Given the description of an element on the screen output the (x, y) to click on. 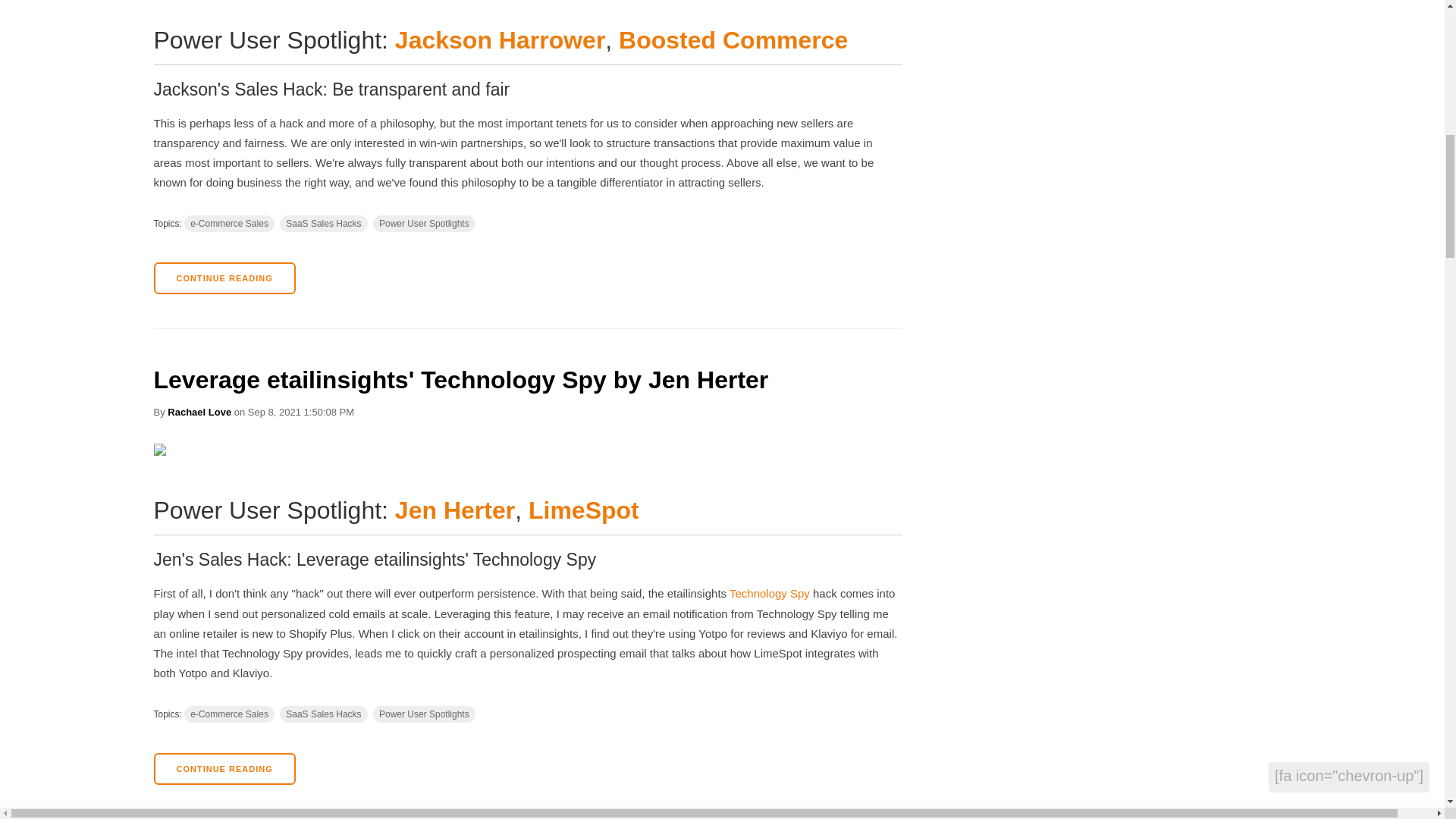
e-Commerce Sales (229, 223)
Boosted Commerce (732, 39)
Jackson Harrower (499, 39)
